Given the description of an element on the screen output the (x, y) to click on. 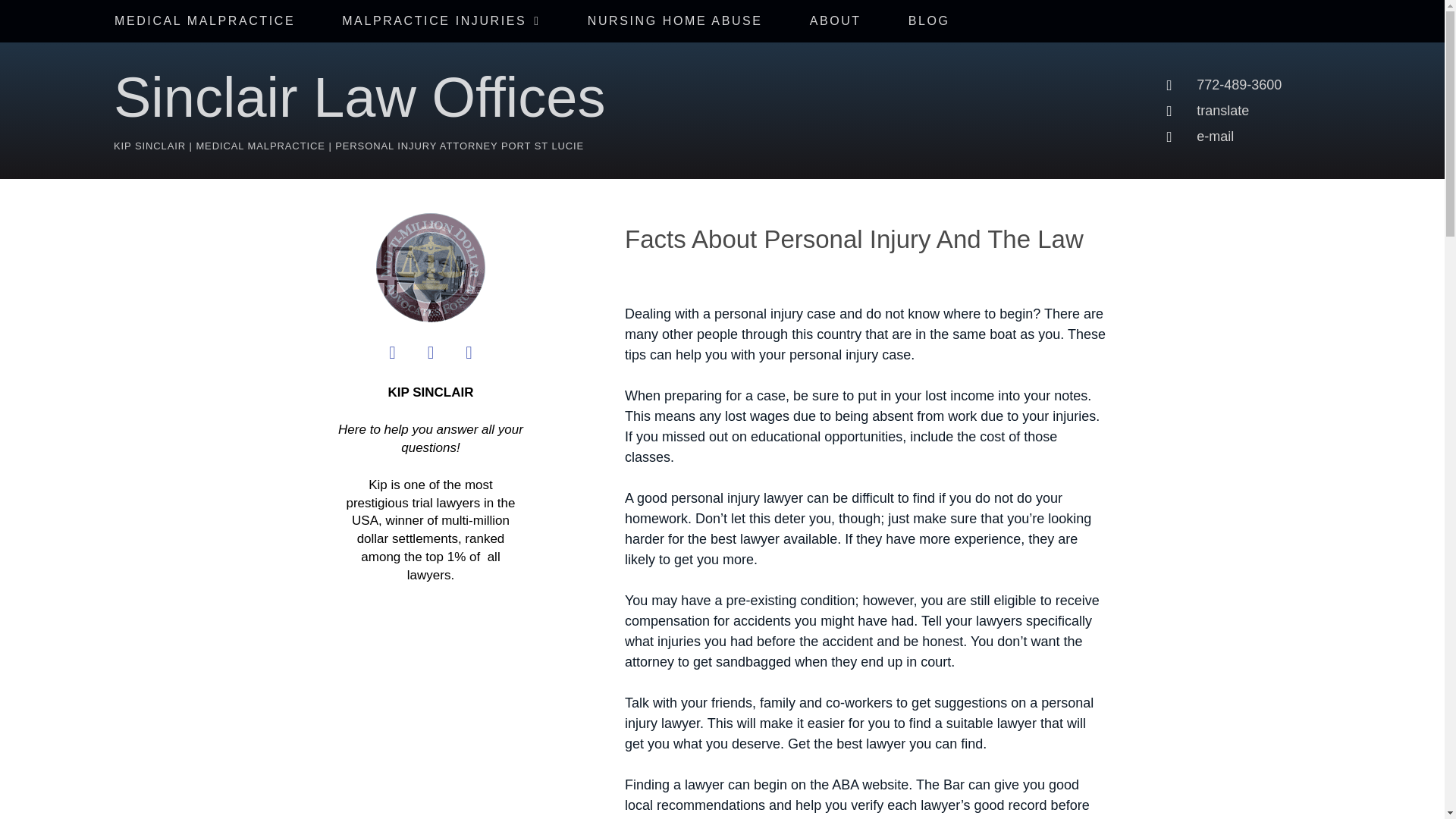
NURSING HOME ABUSE (675, 21)
772-489-3600 (1304, 84)
ABOUT (835, 21)
e-mail (1304, 136)
translate (1304, 109)
BLOG (929, 21)
MALPRACTICE INJURIES (441, 21)
MEDICAL MALPRACTICE (204, 21)
